Given the description of an element on the screen output the (x, y) to click on. 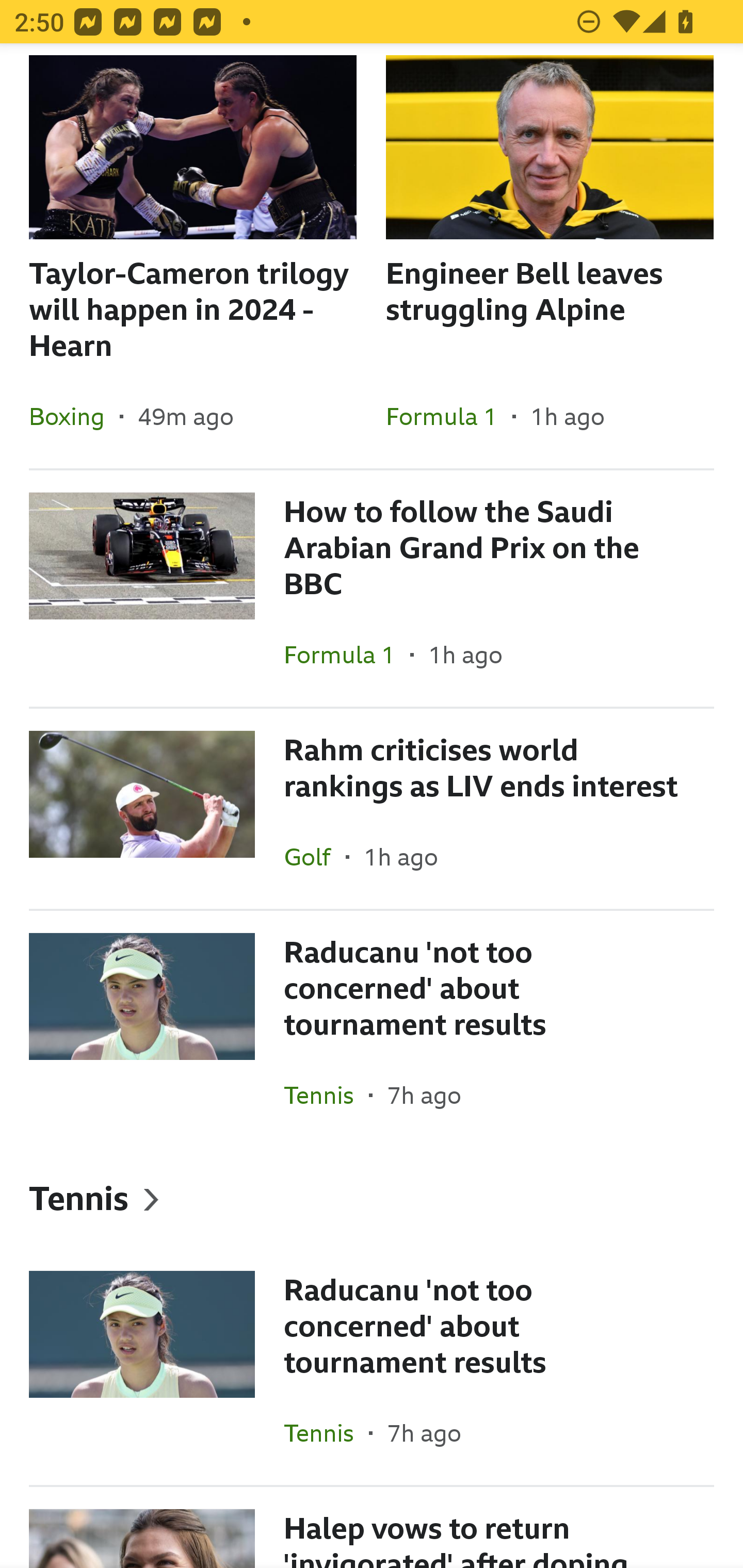
Tennis, Heading Tennis    (371, 1197)
